Given the description of an element on the screen output the (x, y) to click on. 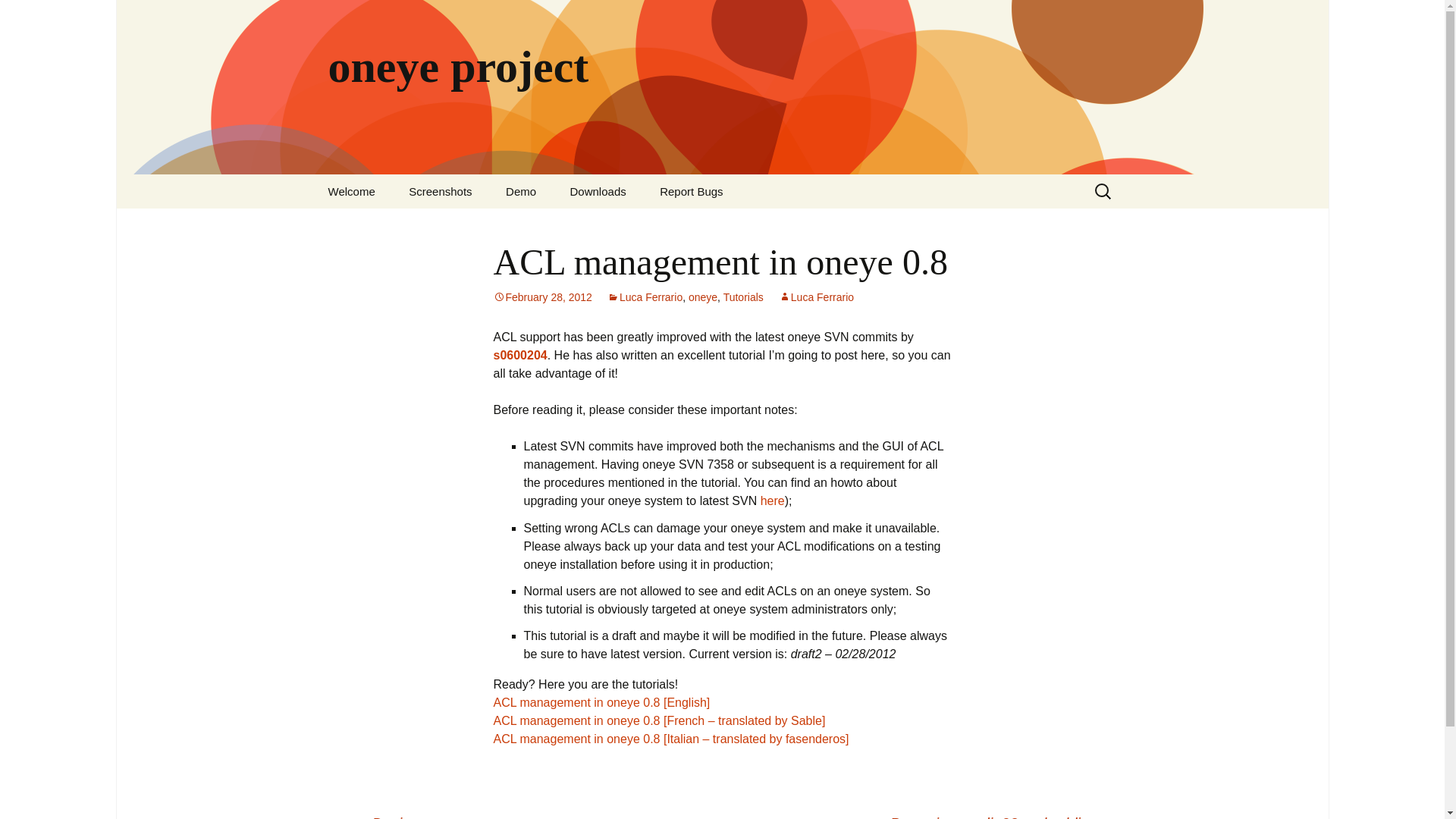
News (388, 225)
View all posts by Luca Ferrario (815, 297)
Screenshots (439, 191)
oneye (702, 297)
GitHub (630, 225)
Luca Ferrario (644, 297)
Search (18, 15)
Welcome (351, 191)
s0600204 (520, 354)
Permalink to ACL management in oneye 0.8 (542, 297)
